Given the description of an element on the screen output the (x, y) to click on. 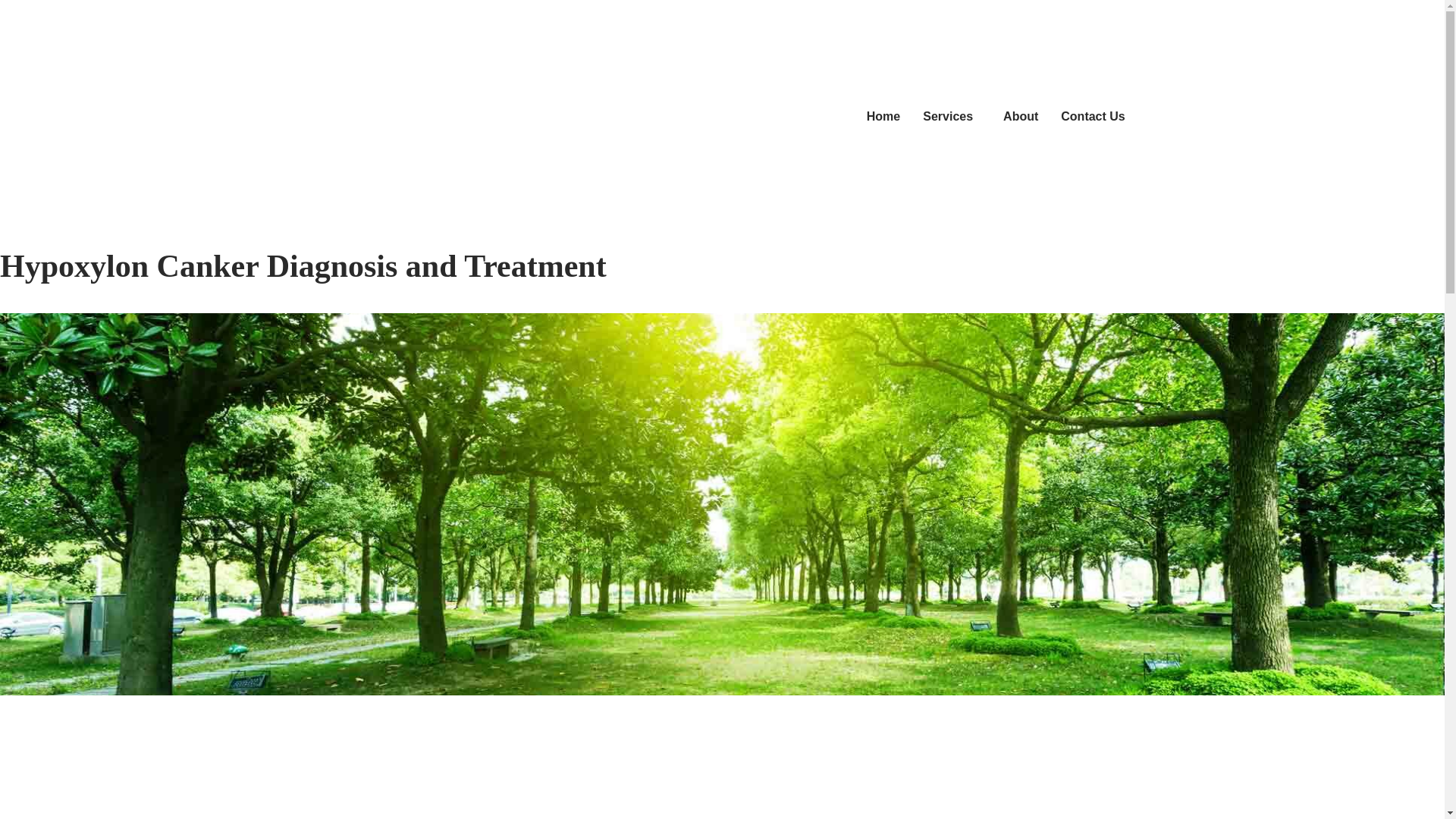
About (1020, 116)
Contact Us (1092, 116)
Services (951, 116)
Home (883, 116)
